Given the description of an element on the screen output the (x, y) to click on. 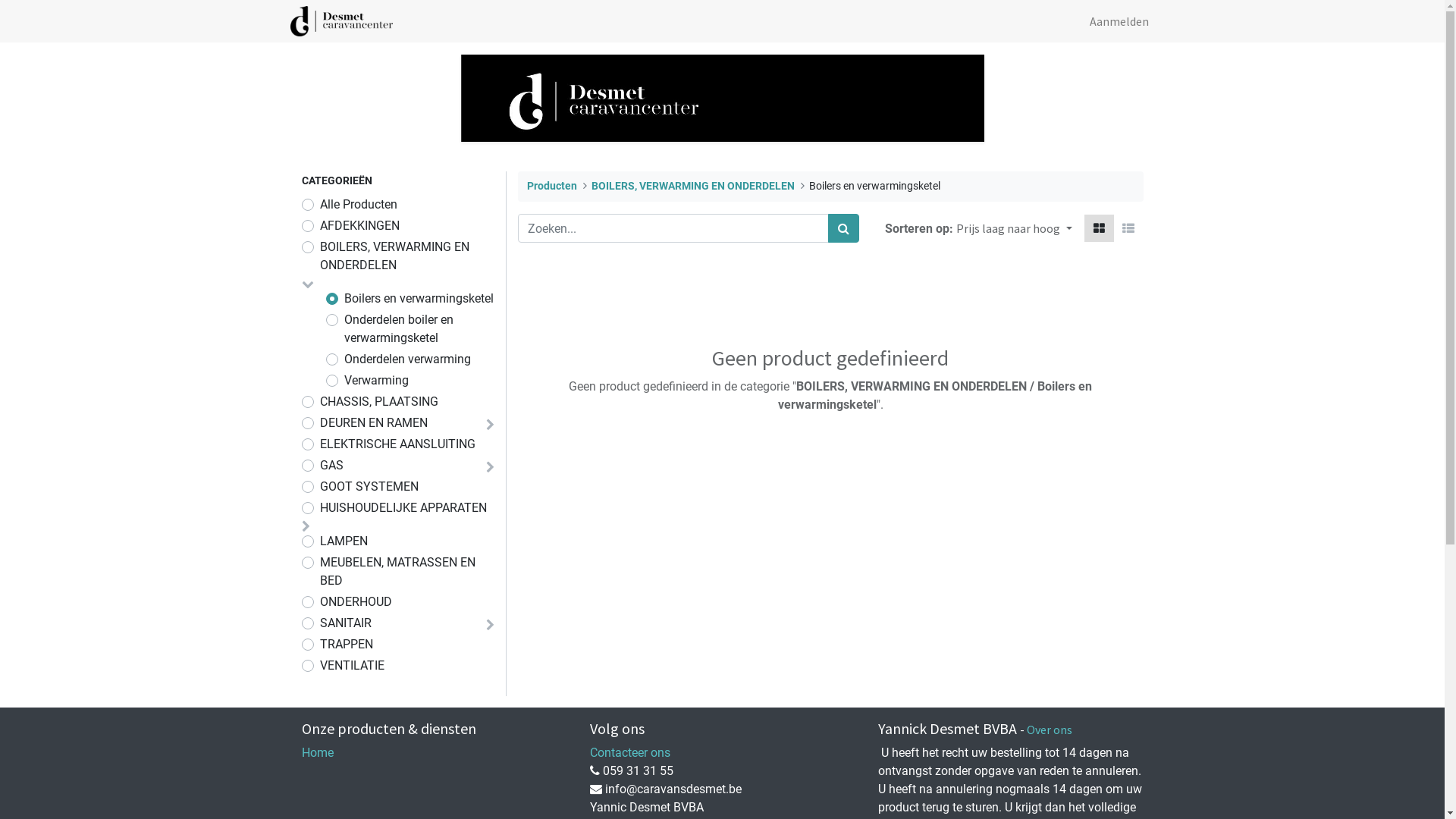
Vouwen Element type: hover (305, 526)
Home Element type: text (317, 752)
Contacteer ons Element type: text (629, 752)
Vouwen Element type: hover (489, 467)
Matrix Element type: hover (1098, 227)
Vouwen Element type: hover (489, 624)
Zoek Element type: hover (843, 227)
Over ons Element type: text (1049, 729)
Lijst Element type: hover (1128, 227)
Ontvouwen Element type: hover (307, 283)
BOILERS, VERWARMING EN ONDERDELEN Element type: text (692, 185)
Vouwen Element type: hover (489, 424)
Yannick Desmet BVBA Element type: hover (340, 21)
Producten Element type: text (551, 185)
Aanmelden Element type: text (1118, 21)
Prijs laag naar hoog Element type: text (1013, 227)
